Given the description of an element on the screen output the (x, y) to click on. 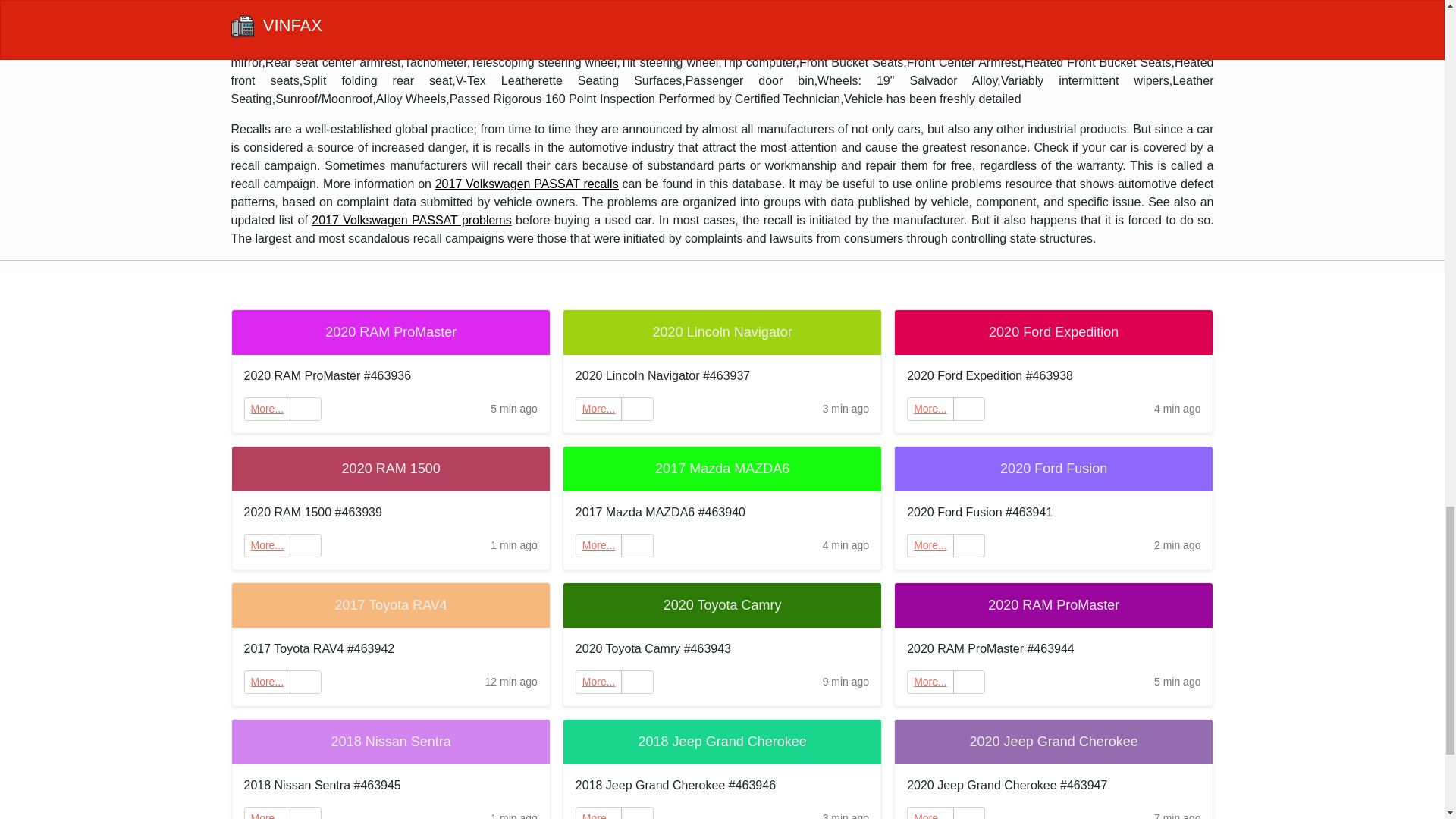
2017 Volkswagen PASSAT problems (411, 219)
More... (266, 544)
More... (266, 815)
Edit (969, 681)
Edit (636, 408)
2017 Volkswagen PASSAT recalls (526, 183)
More... (598, 544)
More... (930, 408)
2020 RAM 1500 (390, 468)
More... (598, 681)
More... (599, 408)
2020 Lincoln Navigator (721, 332)
Edit (305, 545)
More... (930, 408)
Edit (305, 812)
